Given the description of an element on the screen output the (x, y) to click on. 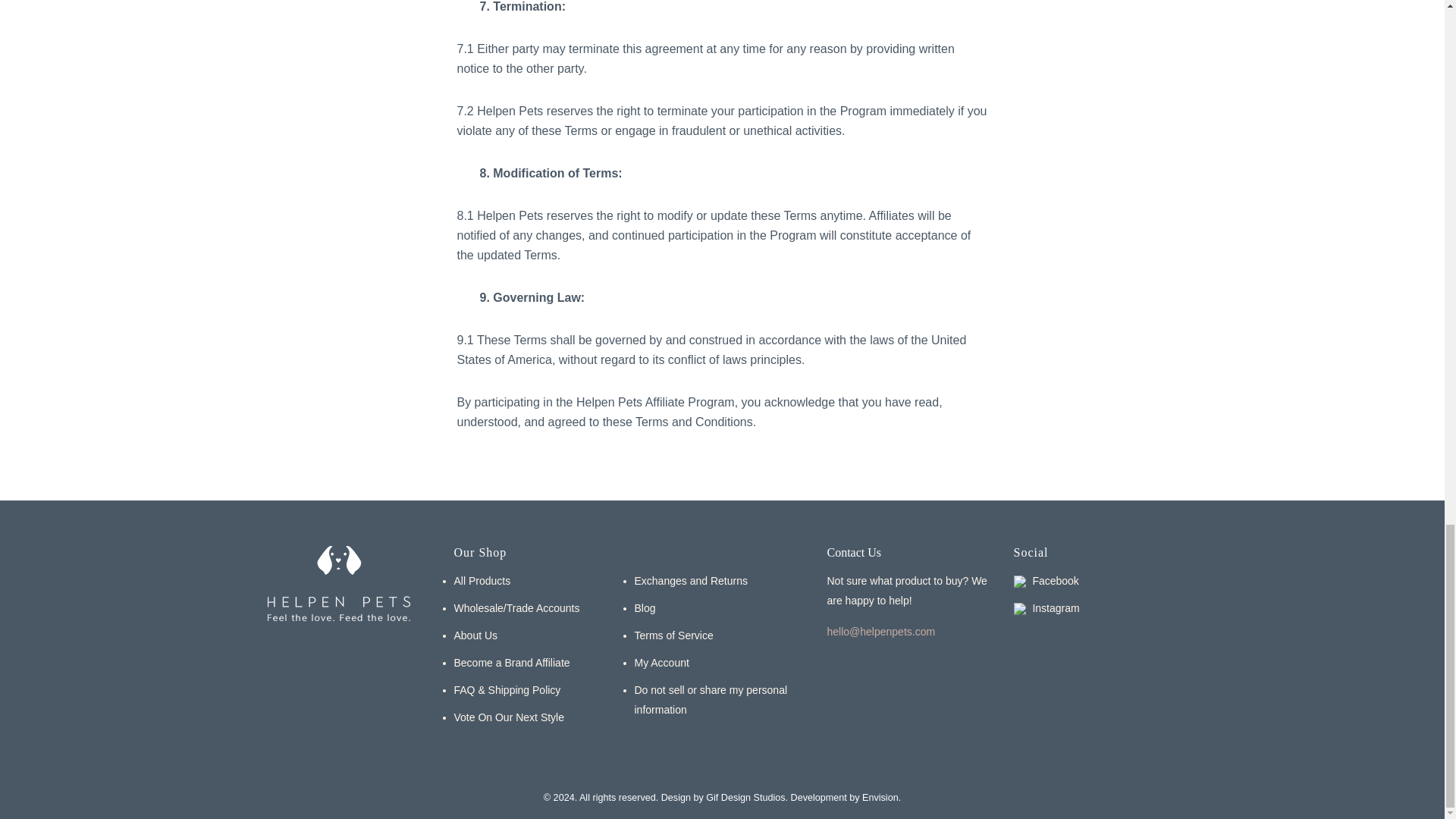
Vote On Our Next Style (508, 717)
All Products (481, 580)
Become a Brand Affiliate (510, 662)
Do not sell or share my personal information (718, 699)
About Us (474, 635)
Facebook (1045, 580)
Terms of Service (673, 635)
My Account (660, 662)
Exchanges and Returns (689, 580)
Facebook (1045, 580)
Instagram (1045, 608)
Blog (644, 608)
